Given the description of an element on the screen output the (x, y) to click on. 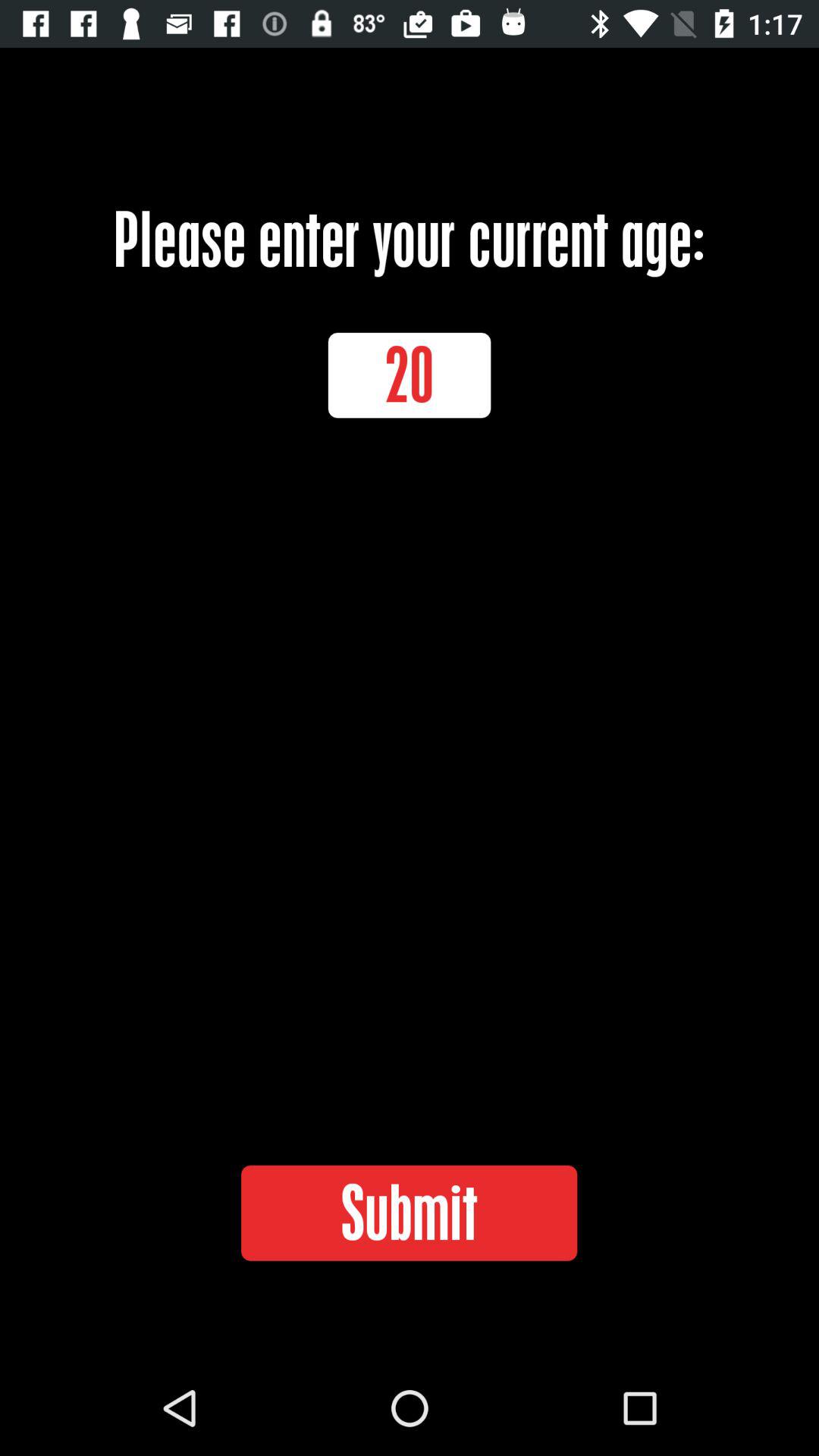
press icon below the please enter your item (409, 375)
